Given the description of an element on the screen output the (x, y) to click on. 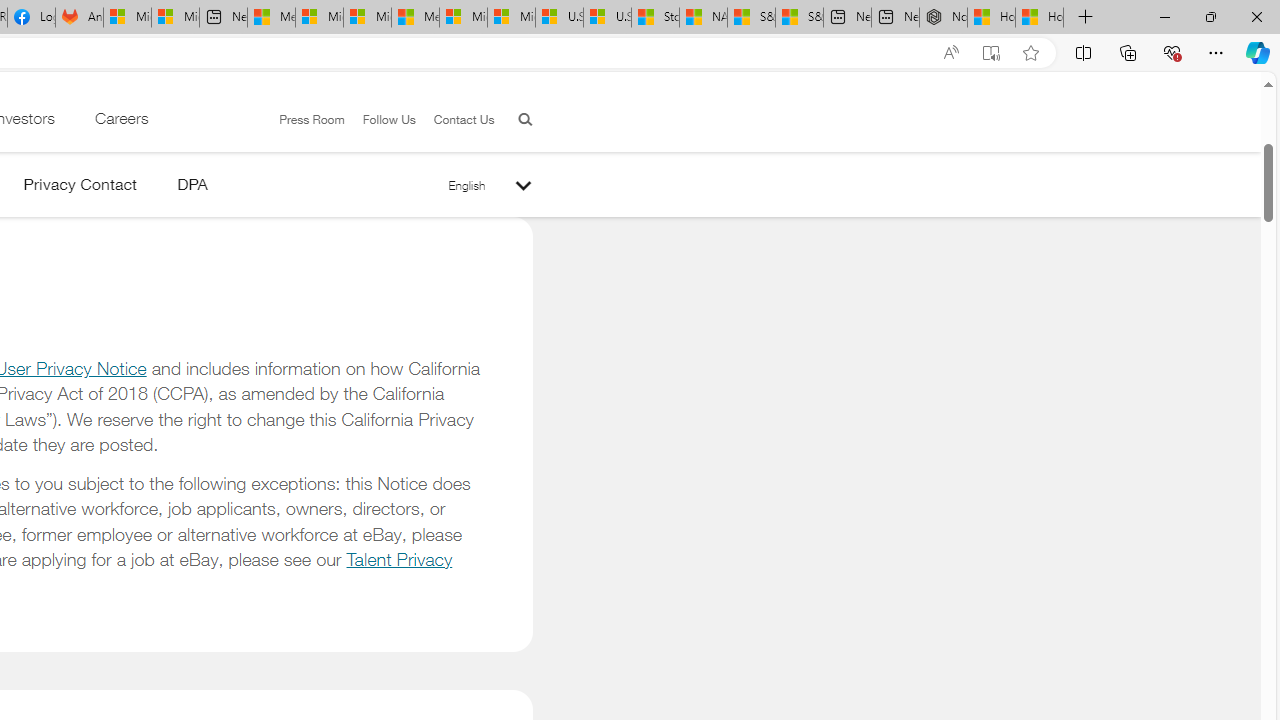
Microsoft account | Home (367, 17)
DPA (191, 188)
How to Use a Monitor With Your Closed Laptop (1039, 17)
Enter Immersive Reader (F9) (991, 53)
